Given the description of an element on the screen output the (x, y) to click on. 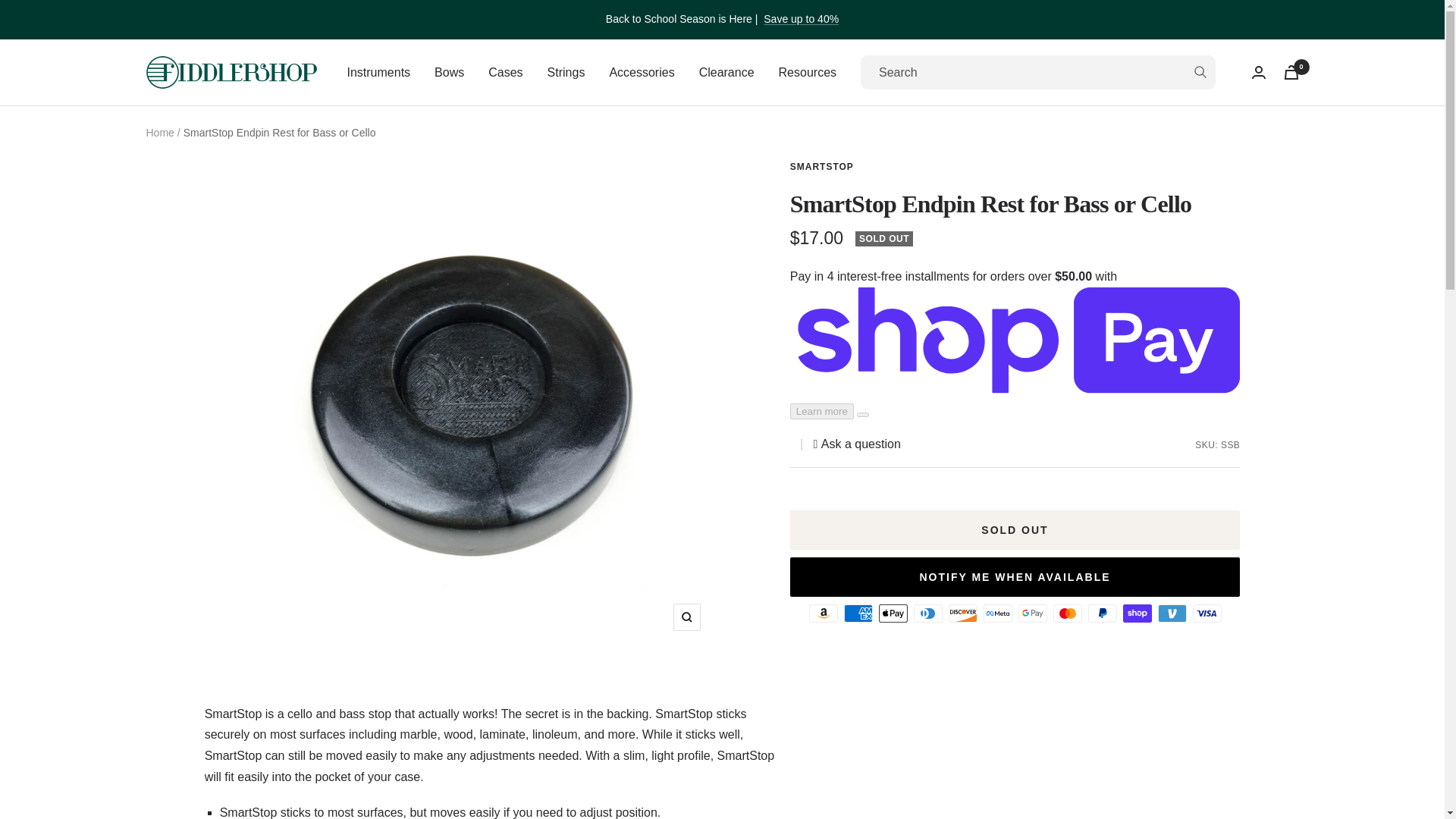
Cases (504, 72)
Home (159, 132)
Fiddlershop (230, 72)
Zoom (686, 616)
Clearance (726, 72)
Instruments (378, 72)
Strings (566, 72)
SMARTSTOP (821, 166)
SOLD OUT (1015, 529)
NOTIFY ME WHEN AVAILABLE (1015, 577)
